Given the description of an element on the screen output the (x, y) to click on. 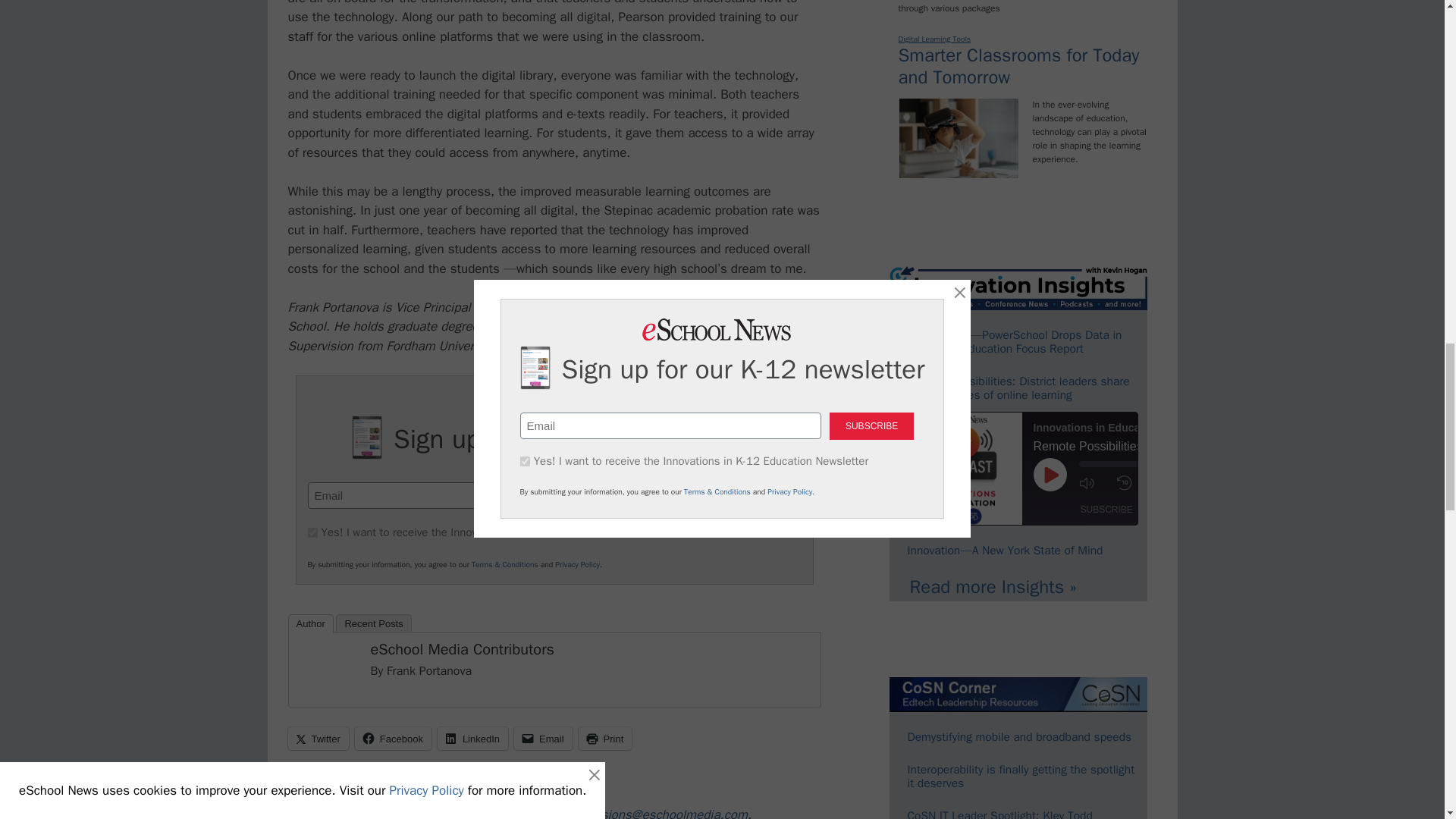
SUBSCRIBE (727, 495)
100 (312, 532)
